Given the description of an element on the screen output the (x, y) to click on. 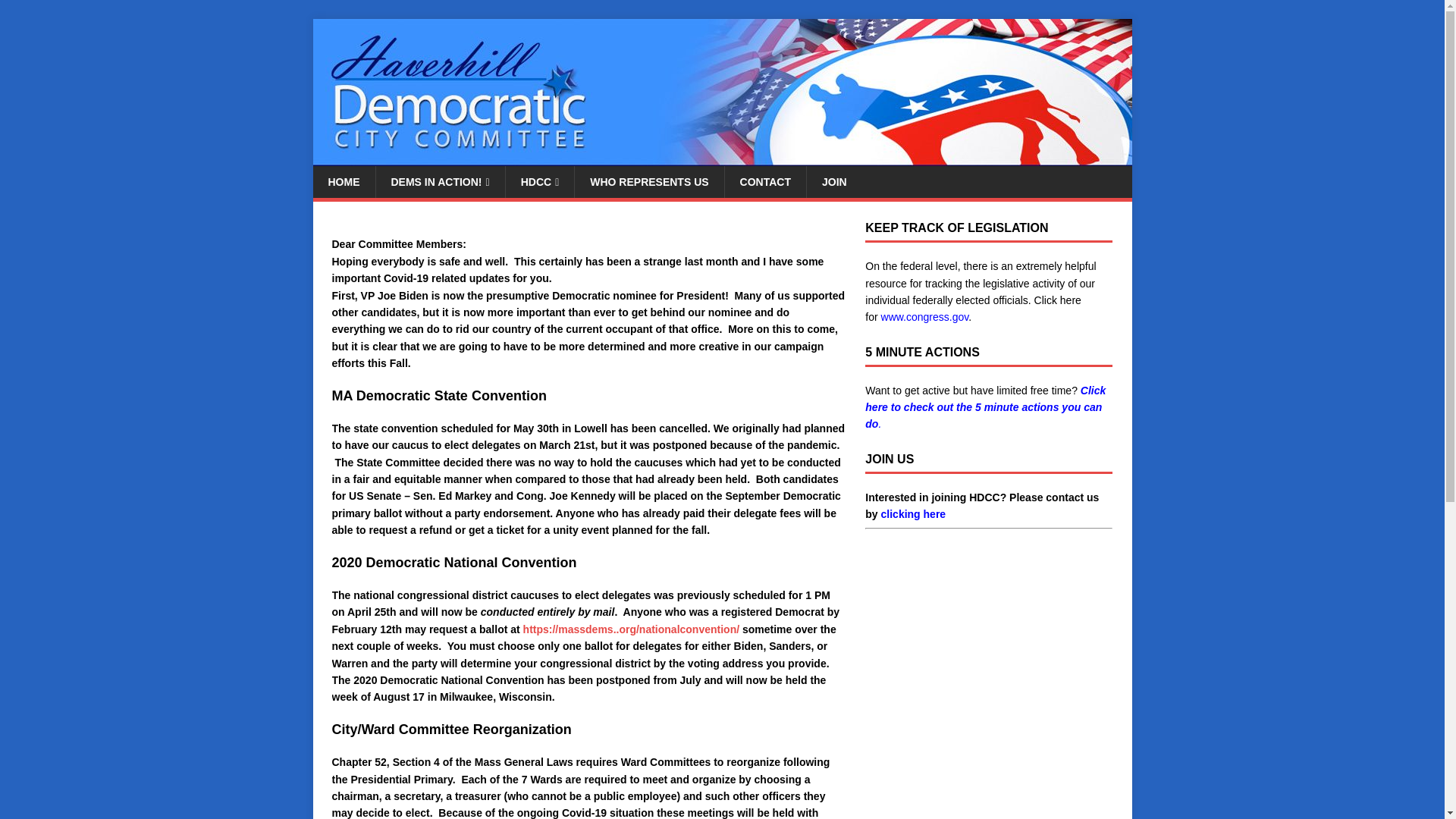
HDCC (540, 182)
CONTACT (764, 182)
DEMS IN ACTION! (438, 182)
JOIN (833, 182)
clicking here (913, 513)
Click here to check out the 5 minute actions you can do. (984, 407)
HOME (343, 182)
www.congress.gov (924, 316)
WHO REPRESENTS US (648, 182)
Haverhill Democrats (722, 157)
